Given the description of an element on the screen output the (x, y) to click on. 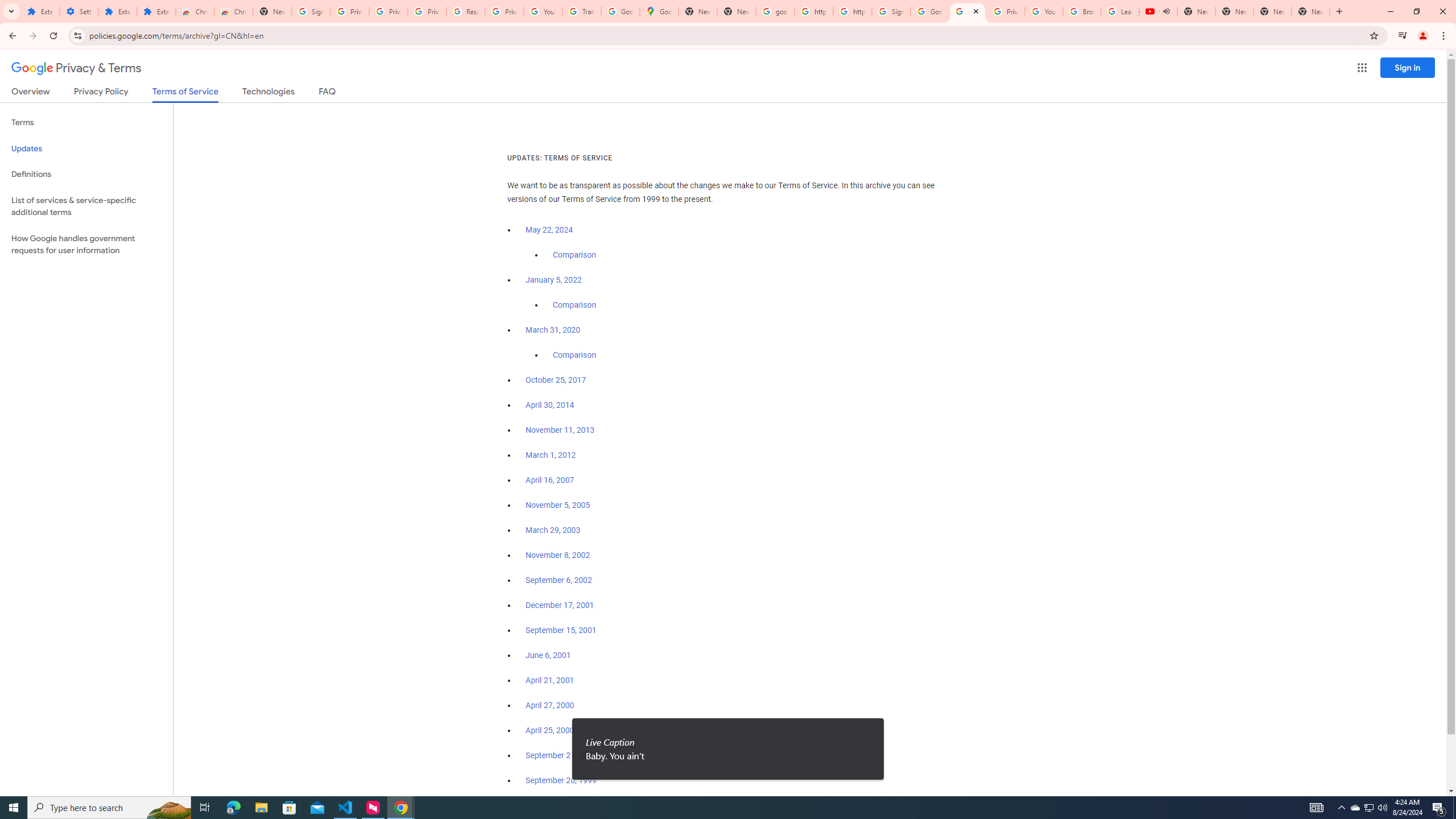
New Tab (272, 11)
March 29, 2003 (552, 530)
April 25, 2000 (550, 729)
Extensions (156, 11)
September 15, 2001 (560, 629)
Extensions (40, 11)
Sign in - Google Accounts (890, 11)
